Given the description of an element on the screen output the (x, y) to click on. 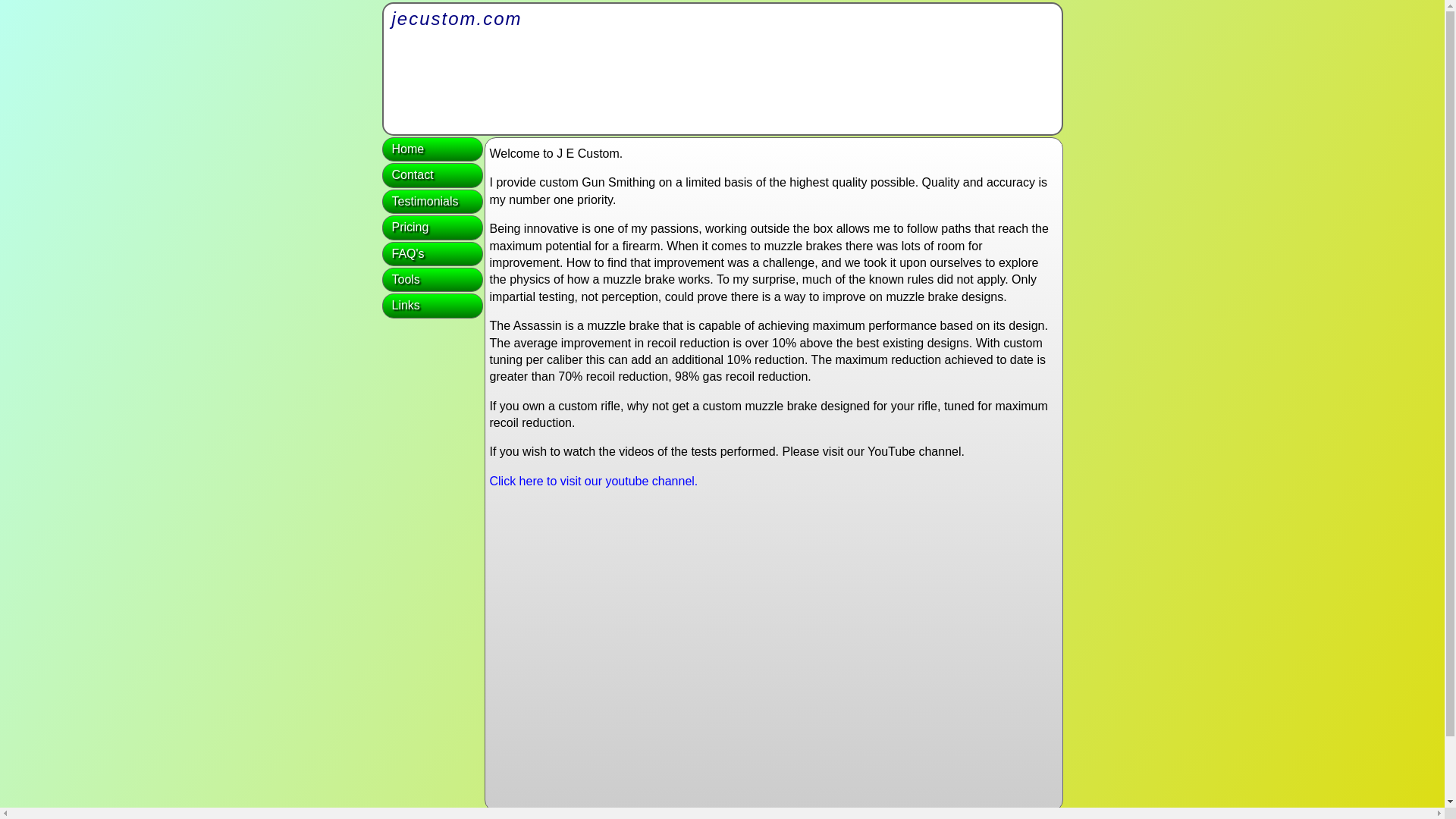
FAQ's (432, 253)
Home (432, 149)
Home (701, 817)
Tools (432, 279)
Click here to visit our youtube channel. (593, 481)
Contact (738, 817)
Links (432, 305)
Pricing (432, 227)
Testimonials (432, 201)
Contact (432, 174)
